Given the description of an element on the screen output the (x, y) to click on. 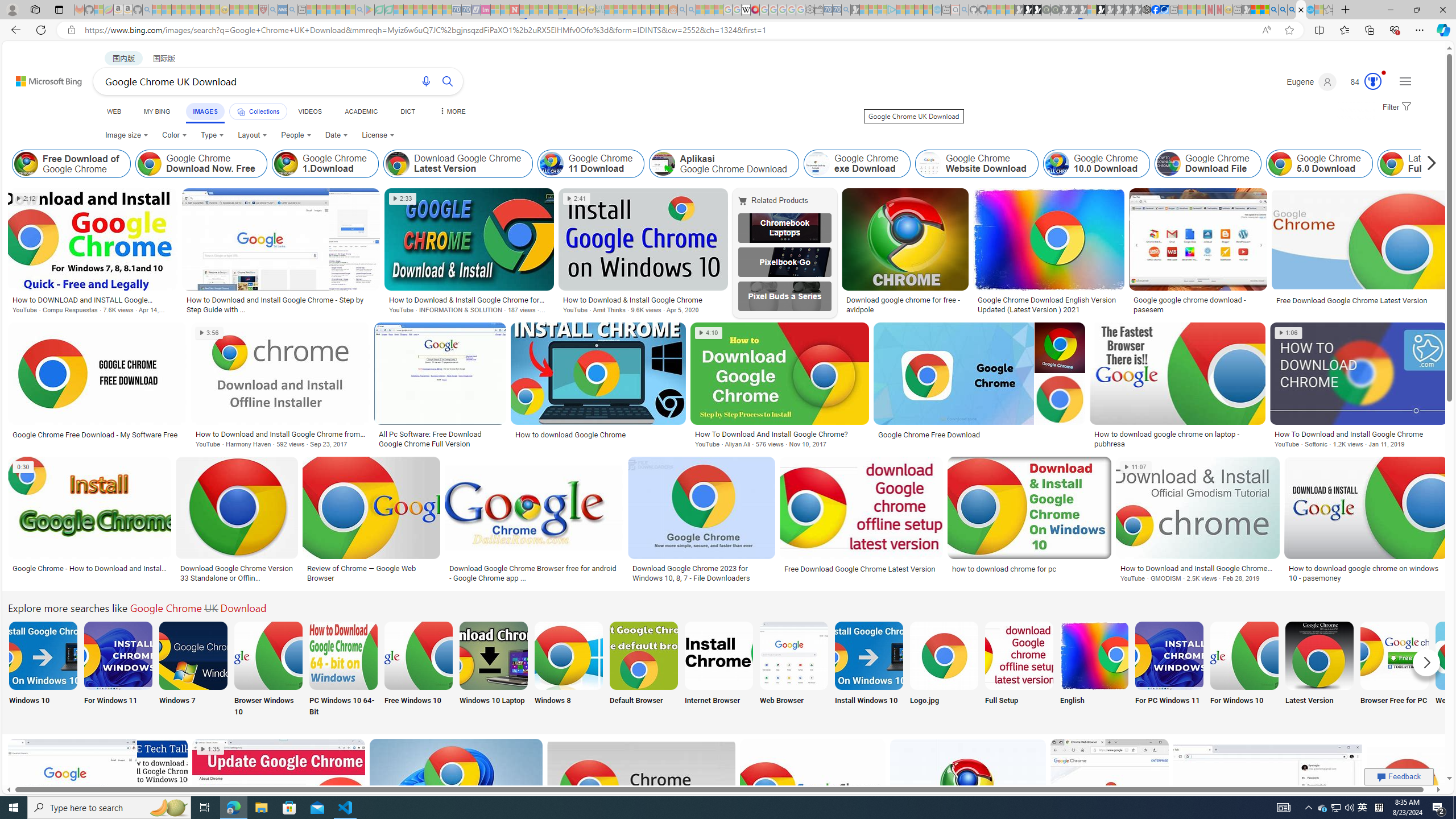
Windows 7 (192, 669)
Google Chrome 10.0 Download (1056, 163)
how to download chrome for pc (1029, 568)
Google Chrome Default Browser Download (644, 654)
Latest Google Chrome Full Download (1390, 163)
Google Chrome Download Windows 7 Windows 7 (192, 669)
Google google chrome download - pasesem (1198, 304)
ACADEMIC (360, 111)
